Given the description of an element on the screen output the (x, y) to click on. 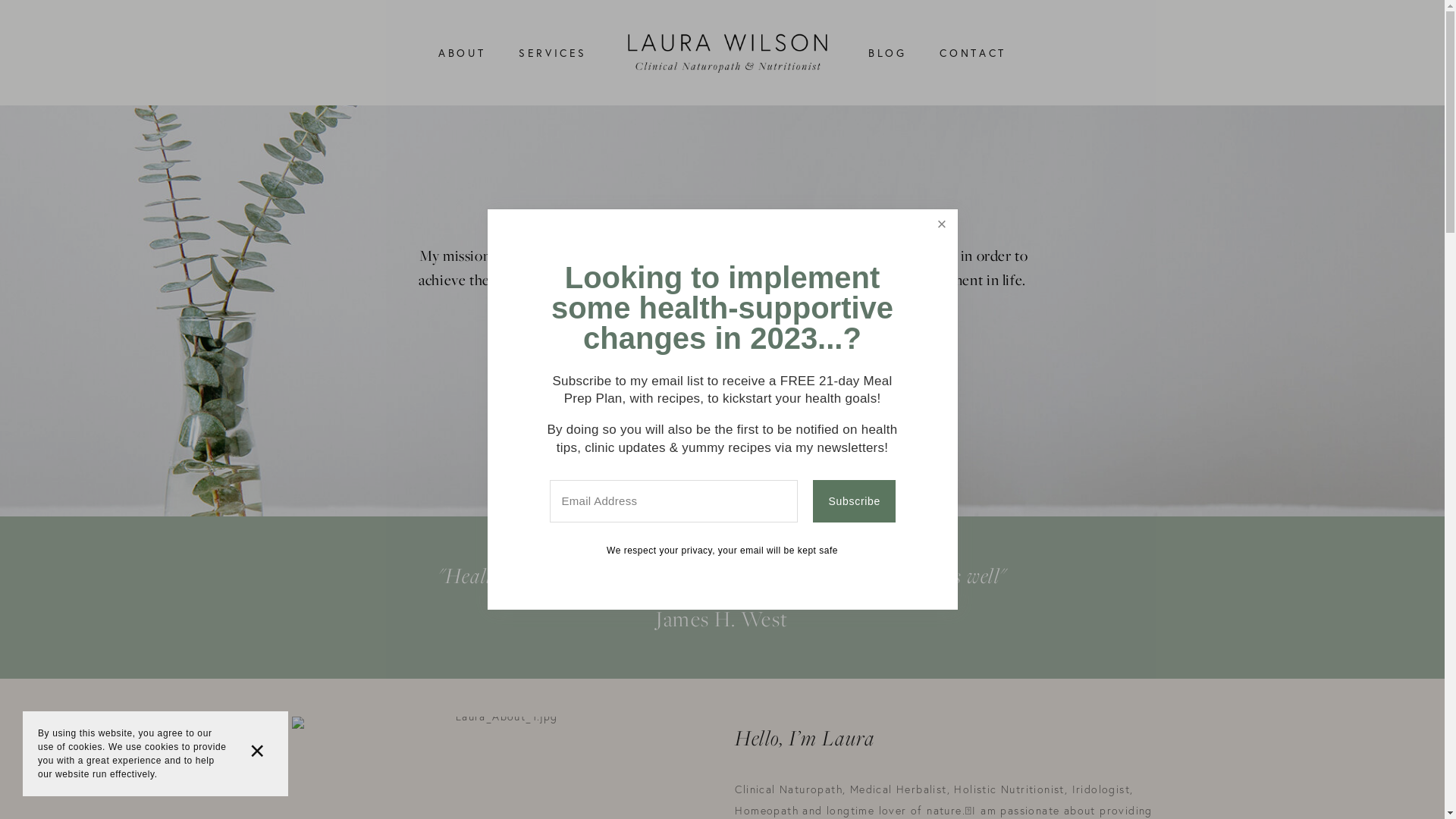
SEE MY SERVICES Element type: text (722, 340)
SERVICES Element type: text (552, 52)
Subscribe Element type: text (853, 501)
BLOG Element type: text (887, 52)
CONTACT Element type: text (972, 52)
ABOUT Element type: text (461, 52)
